Given the description of an element on the screen output the (x, y) to click on. 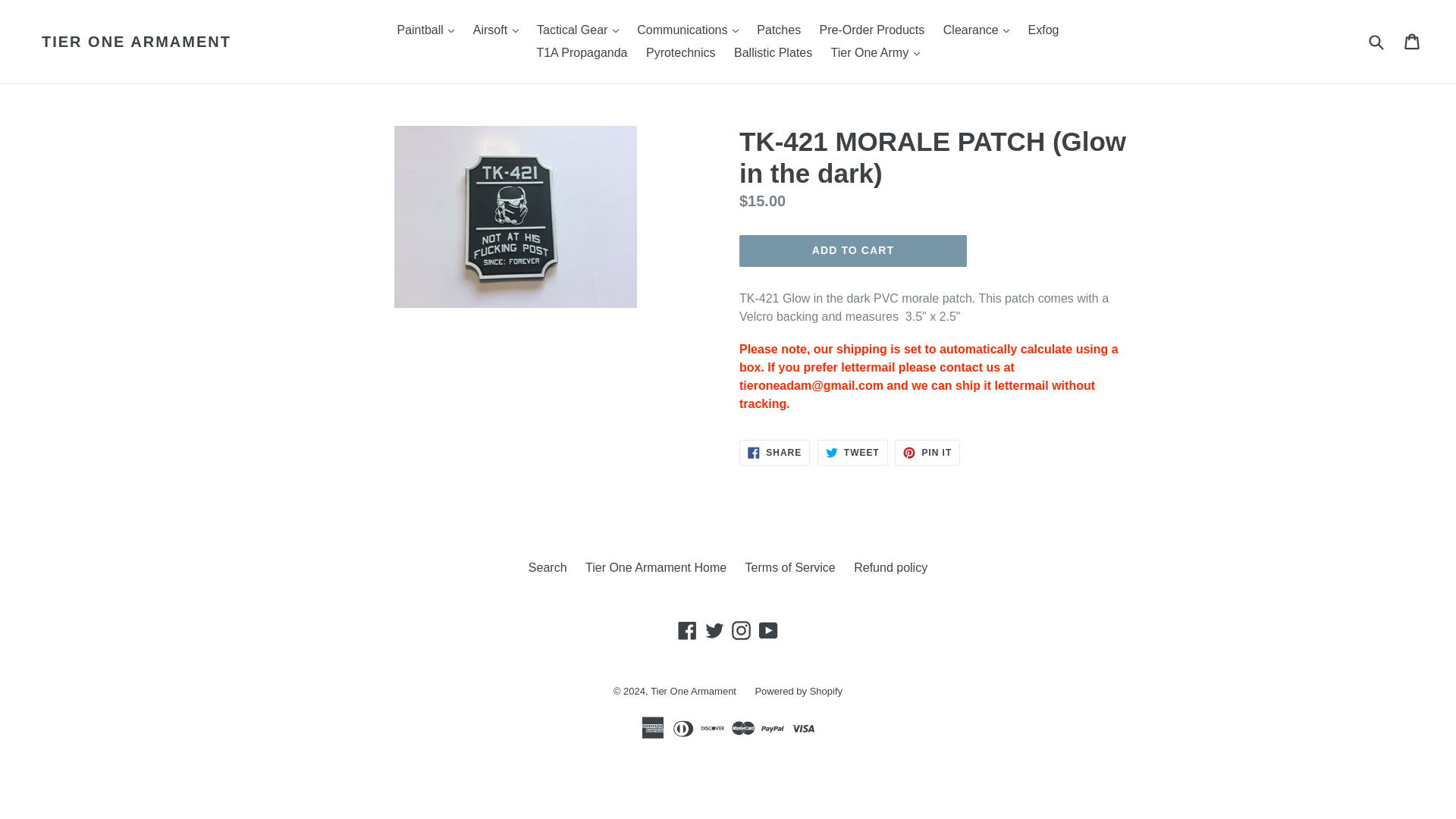
Tier One Armament on Instagram (740, 629)
Share on Facebook (774, 452)
Tier One Armament on Facebook (686, 629)
Tweet on Twitter (852, 452)
Pin on Pinterest (927, 452)
Tier One Armament on YouTube (768, 629)
Tier One Armament on Twitter (714, 629)
